Given the description of an element on the screen output the (x, y) to click on. 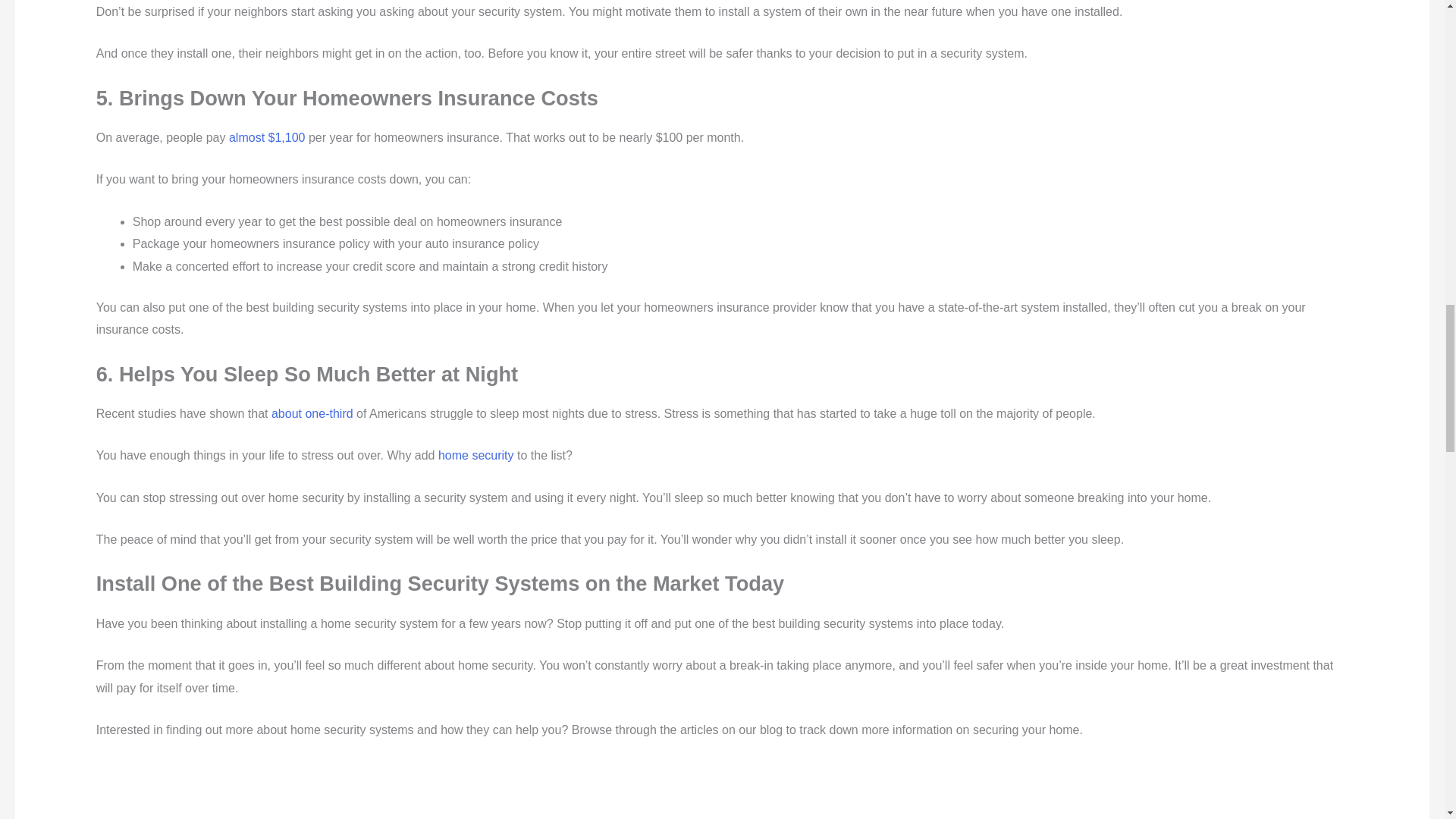
about one-third (311, 413)
home security (475, 454)
home security (475, 454)
